Given the description of an element on the screen output the (x, y) to click on. 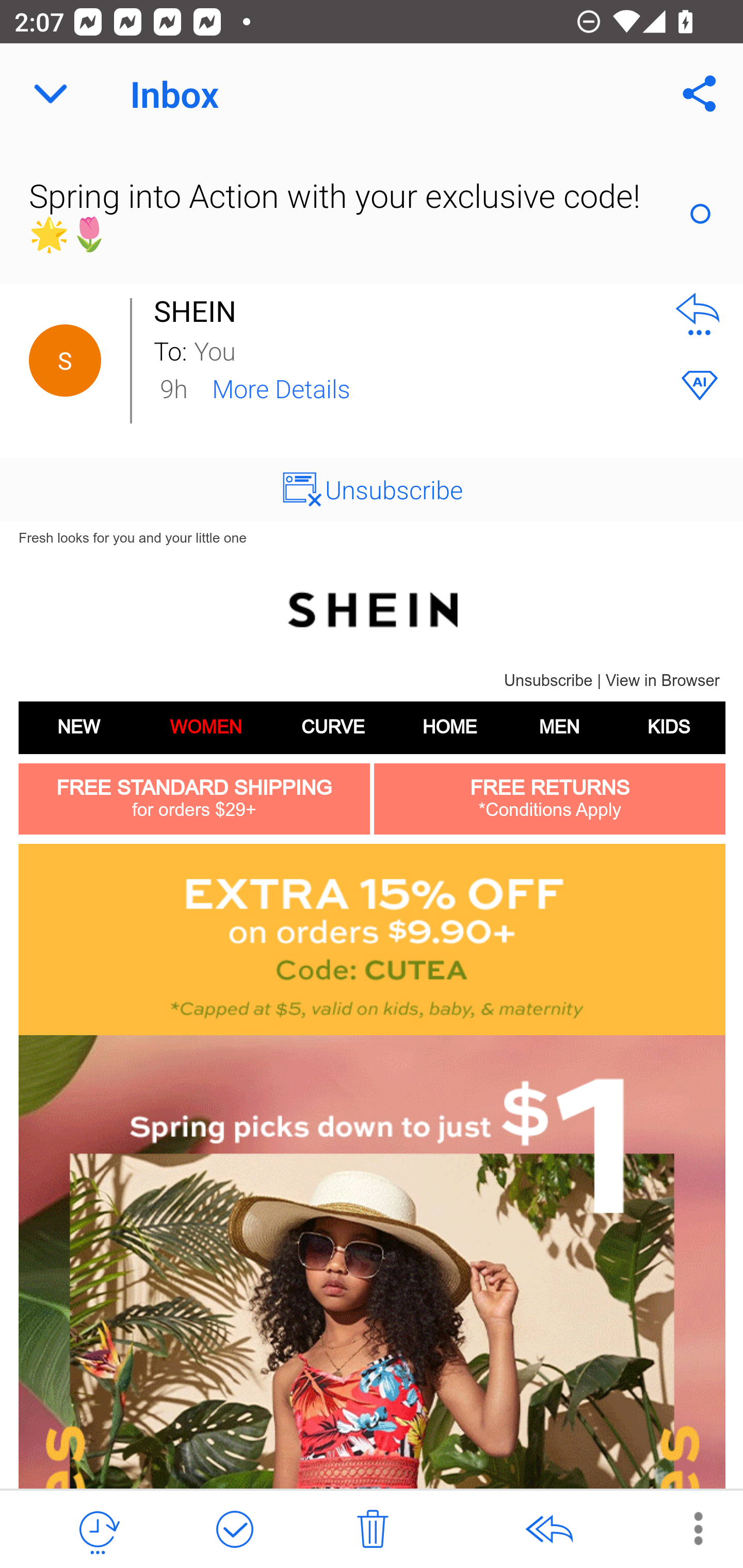
Navigate up (50, 93)
Share (699, 93)
Mark as Read (699, 213)
SHEIN (200, 310)
Contact Details (64, 360)
You (422, 349)
More Details (280, 387)
Unsubscribe (393, 488)
Fresh looks for you and your little one (132, 537)
SHEIN (371, 608)
Unsubscribe (547, 681)
View in Browser (661, 681)
NEW (78, 727)
WOMEN (205, 727)
CURVE (332, 727)
HOME (449, 727)
MEN (559, 727)
KIDS (668, 727)
FREE STANDARD SHIPPING (194, 788)
FREE RETURNS (549, 788)
for orders $29+ (193, 810)
*Conditions Apply (549, 810)
CODE: CUTEA (371, 939)
More Options (687, 1528)
Snooze (97, 1529)
Mark as Done (234, 1529)
Delete (372, 1529)
Reply All (548, 1529)
